Given the description of an element on the screen output the (x, y) to click on. 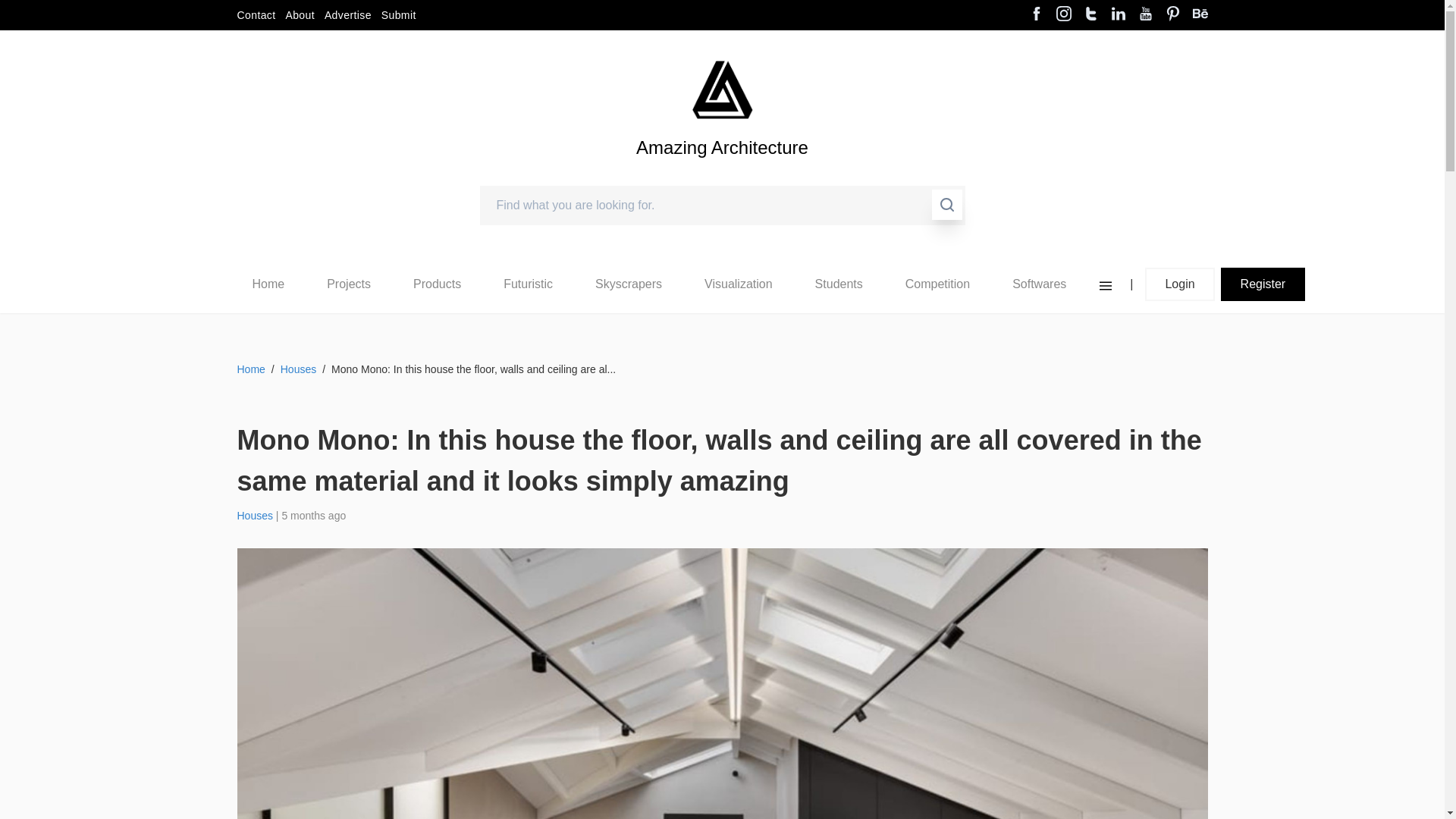
Submit (398, 15)
Advertisement page (347, 15)
Products (437, 283)
Home (267, 283)
About us page (299, 15)
Amazing Architecture (722, 173)
Home (267, 284)
Projects (348, 283)
Submit page (398, 15)
Projects (348, 283)
